Given the description of an element on the screen output the (x, y) to click on. 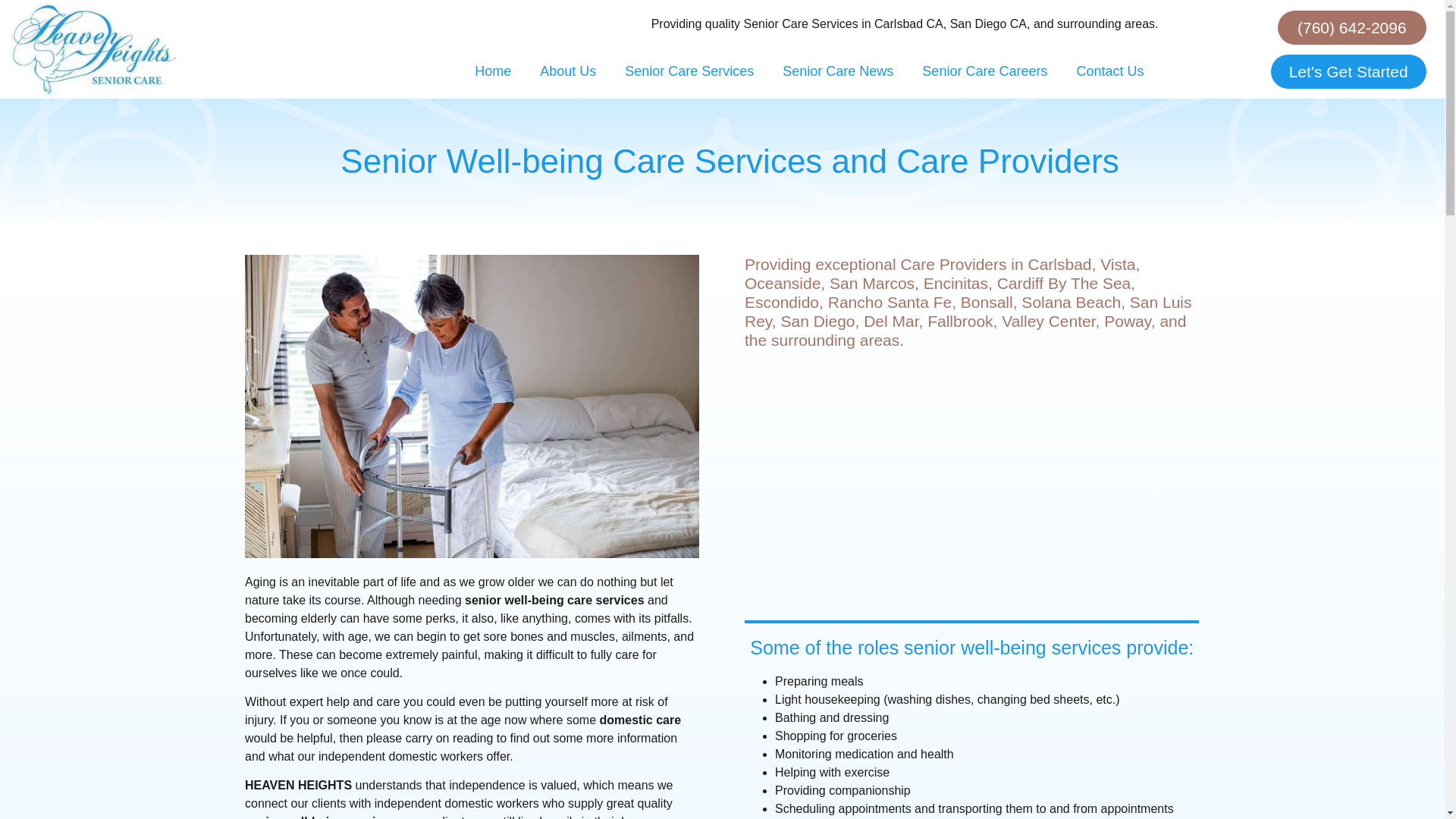
Let's Get Started (1348, 71)
About Us (567, 70)
Senior Care News (837, 70)
Contact Us (1109, 70)
Home (492, 70)
Senior Care Services (689, 70)
Senior Care Careers (984, 70)
